Given the description of an element on the screen output the (x, y) to click on. 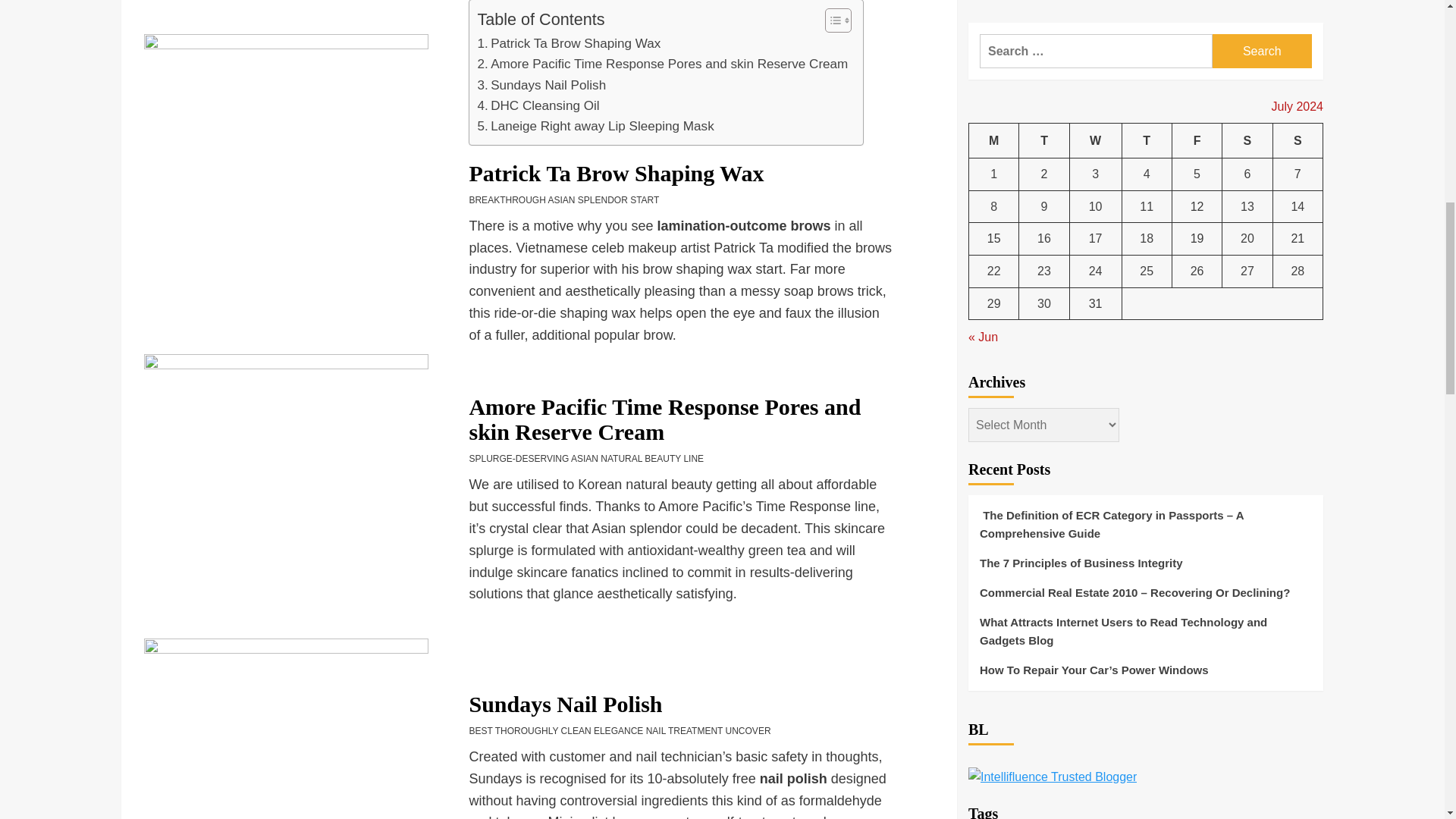
Sundays Nail Polish (541, 85)
Amore Pacific Time Response Pores and skin Reserve Cream (662, 64)
Laneige Right away Lip Sleeping Mask (595, 126)
Patrick Ta Brow Shaping Wax (569, 43)
Patrick Ta Brow Shaping Wax (569, 43)
Amore Pacific Time Response Pores and skin Reserve Cream (662, 64)
Laneige Right away Lip Sleeping Mask (595, 126)
Sundays Nail Polish (541, 85)
DHC Cleansing Oil (537, 105)
DHC Cleansing Oil (537, 105)
